Given the description of an element on the screen output the (x, y) to click on. 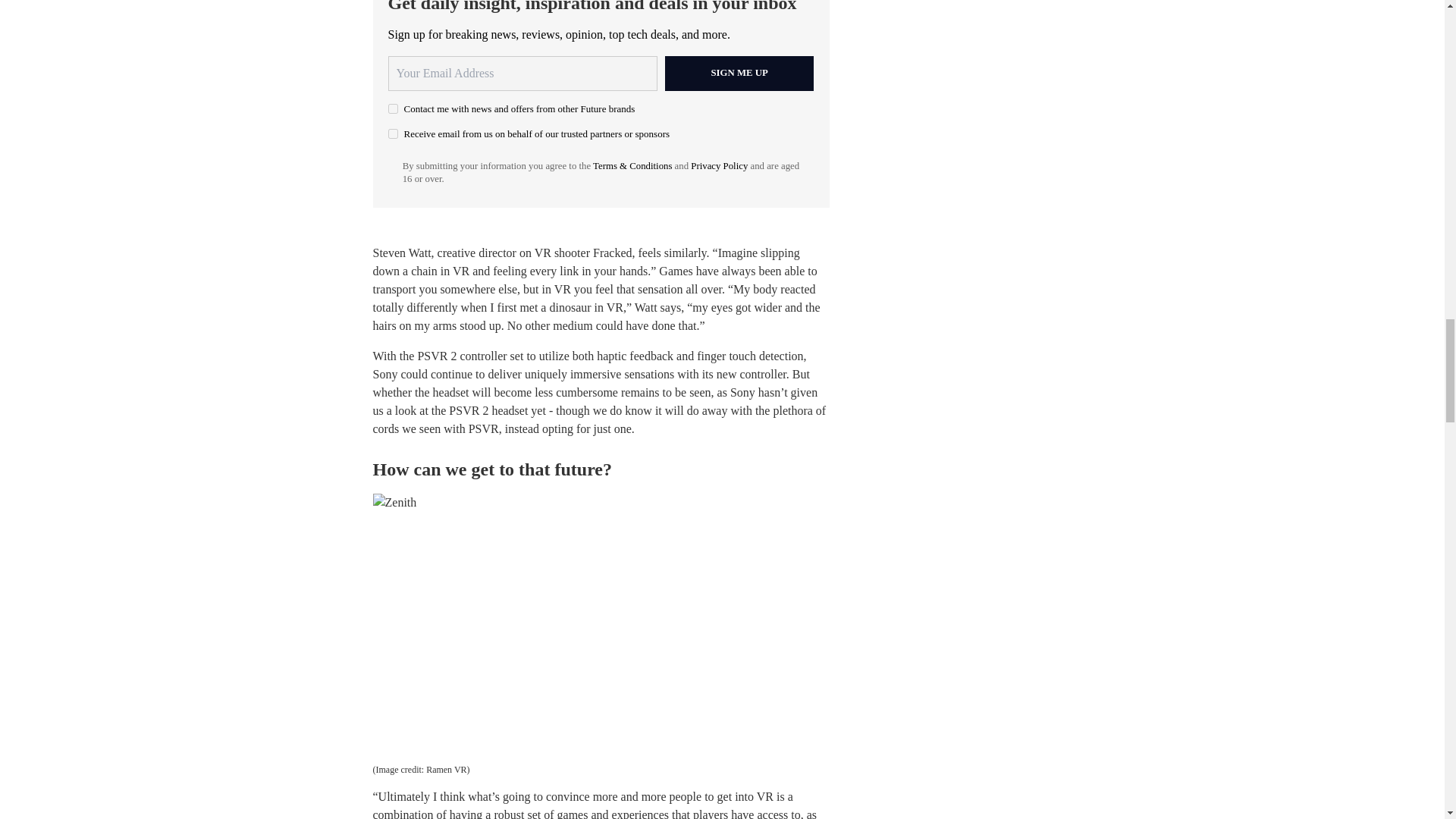
on (392, 133)
Sign me up (739, 73)
on (392, 108)
